Given the description of an element on the screen output the (x, y) to click on. 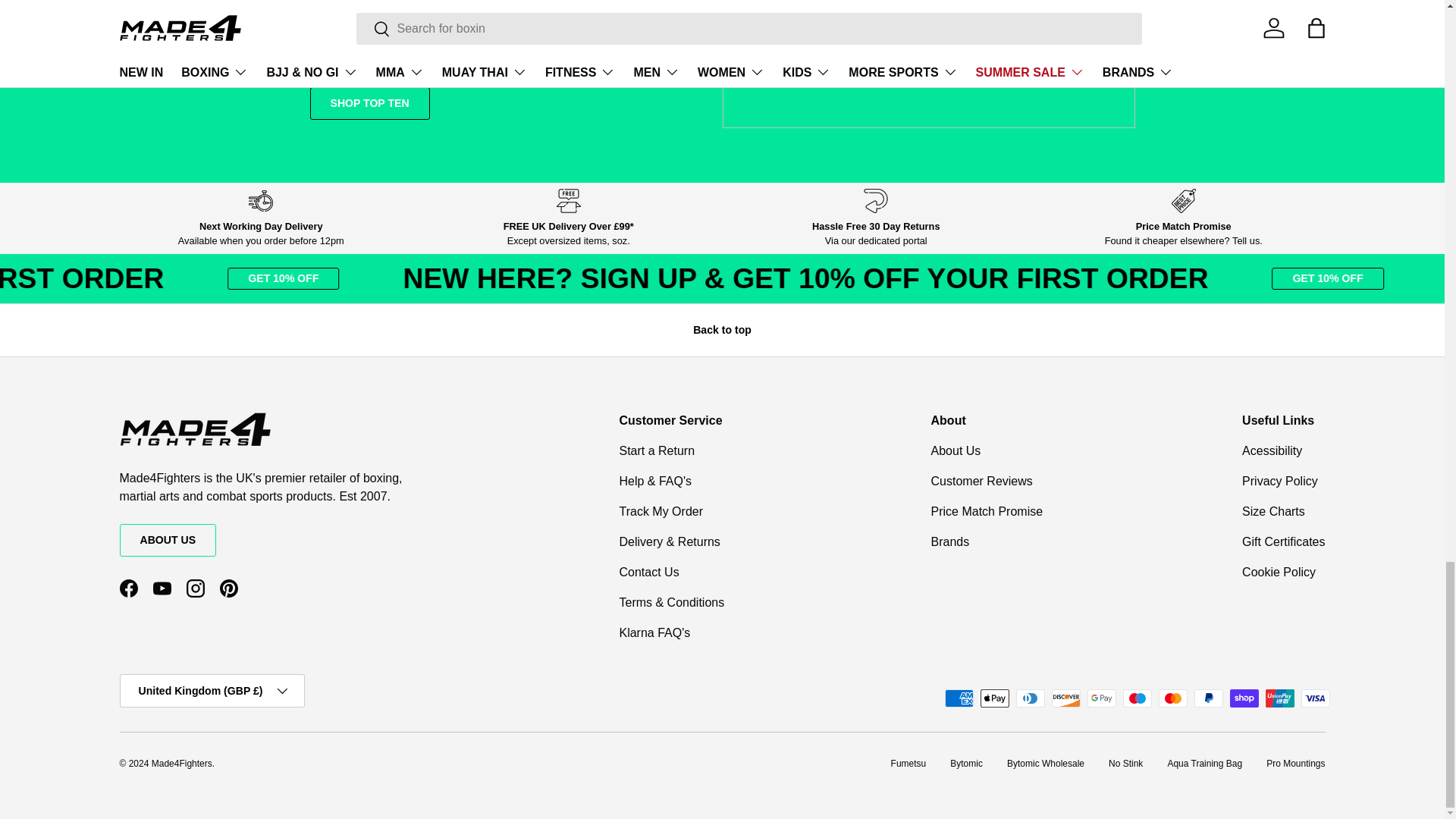
Made4Fighters on Pinterest (229, 588)
Made4Fighters on Facebook (128, 588)
Made4Fighters on YouTube (162, 588)
Made4Fighters on Instagram (195, 588)
